Given the description of an element on the screen output the (x, y) to click on. 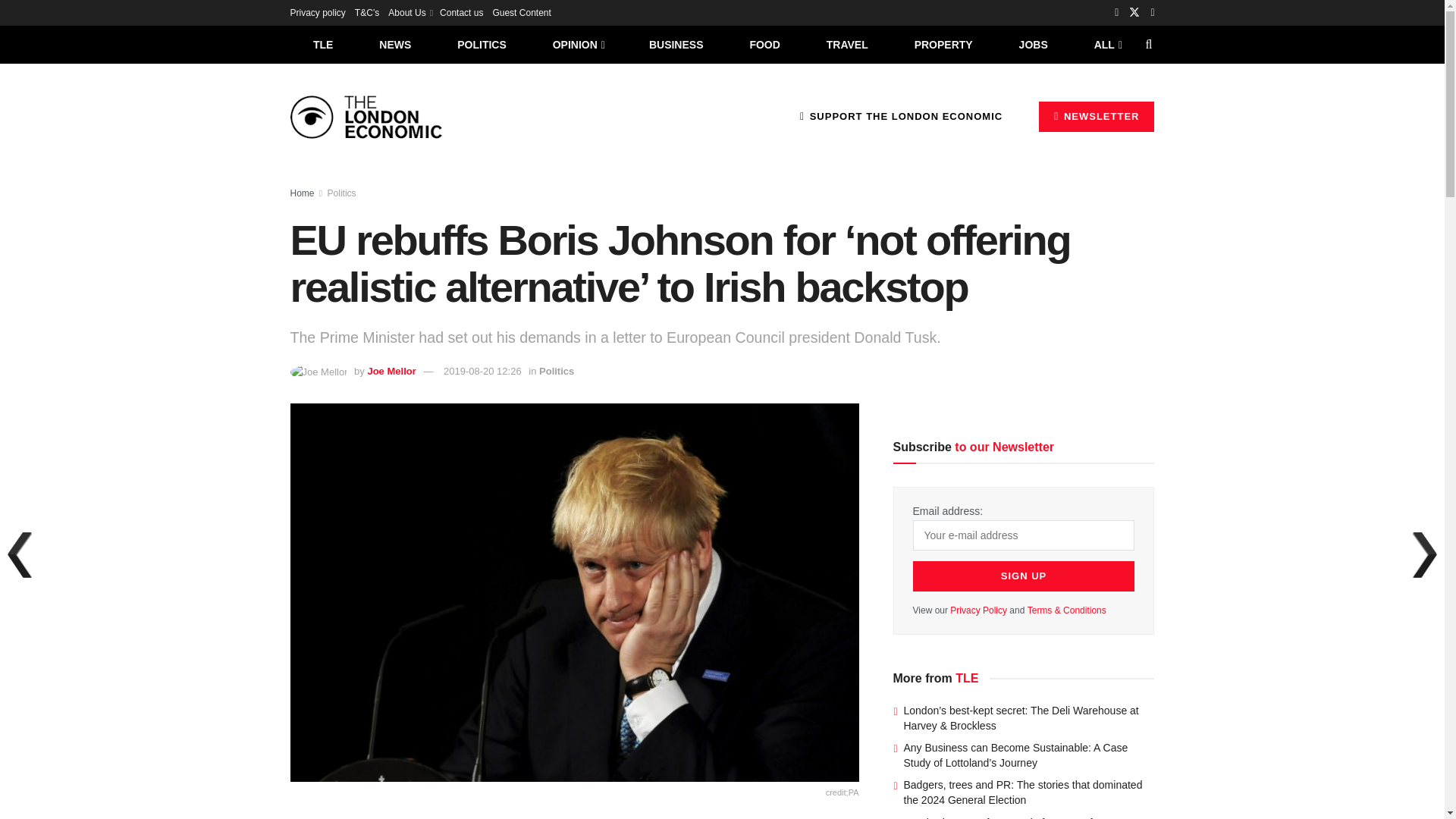
Privacy policy (317, 12)
PROPERTY (943, 44)
Home (301, 193)
About Us (409, 12)
BUSINESS (676, 44)
Sign up (1023, 576)
TLE (322, 44)
TRAVEL (847, 44)
Contact us (461, 12)
Guest Content (521, 12)
NEWS (394, 44)
ALL (1106, 44)
SUPPORT THE LONDON ECONOMIC (900, 116)
JOBS (1032, 44)
FOOD (764, 44)
